Given the description of an element on the screen output the (x, y) to click on. 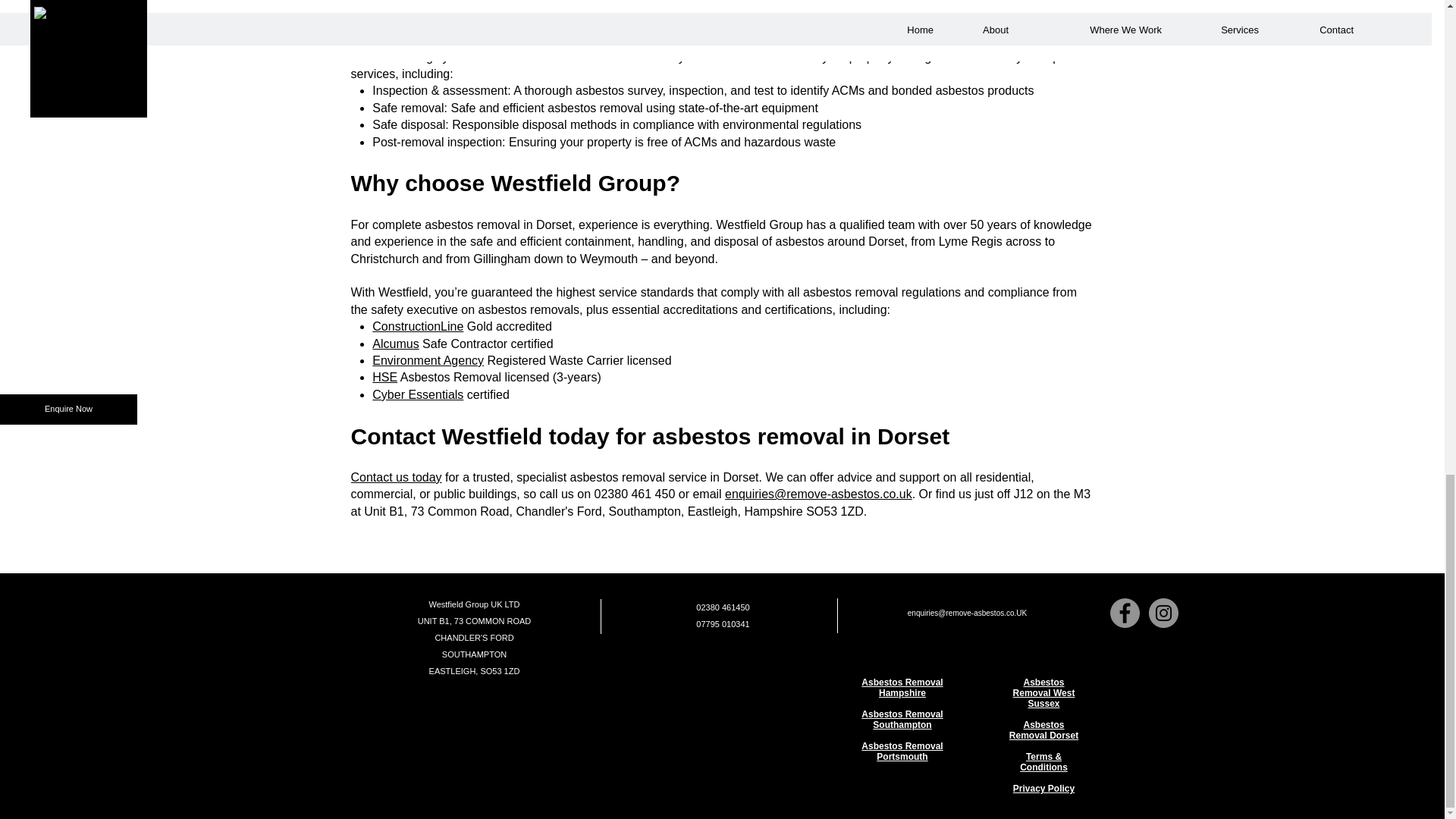
Asbestos Removal Hampshire (901, 687)
02380 461450 (722, 606)
ConstructionLine (417, 326)
Asbestos Removal Portsmouth (901, 751)
Environment Agency (427, 359)
Asbestos Removal Southampton (901, 719)
07795 010341 (722, 623)
Contact us today (395, 477)
HSE (384, 377)
Alcumus (395, 343)
